Given the description of an element on the screen output the (x, y) to click on. 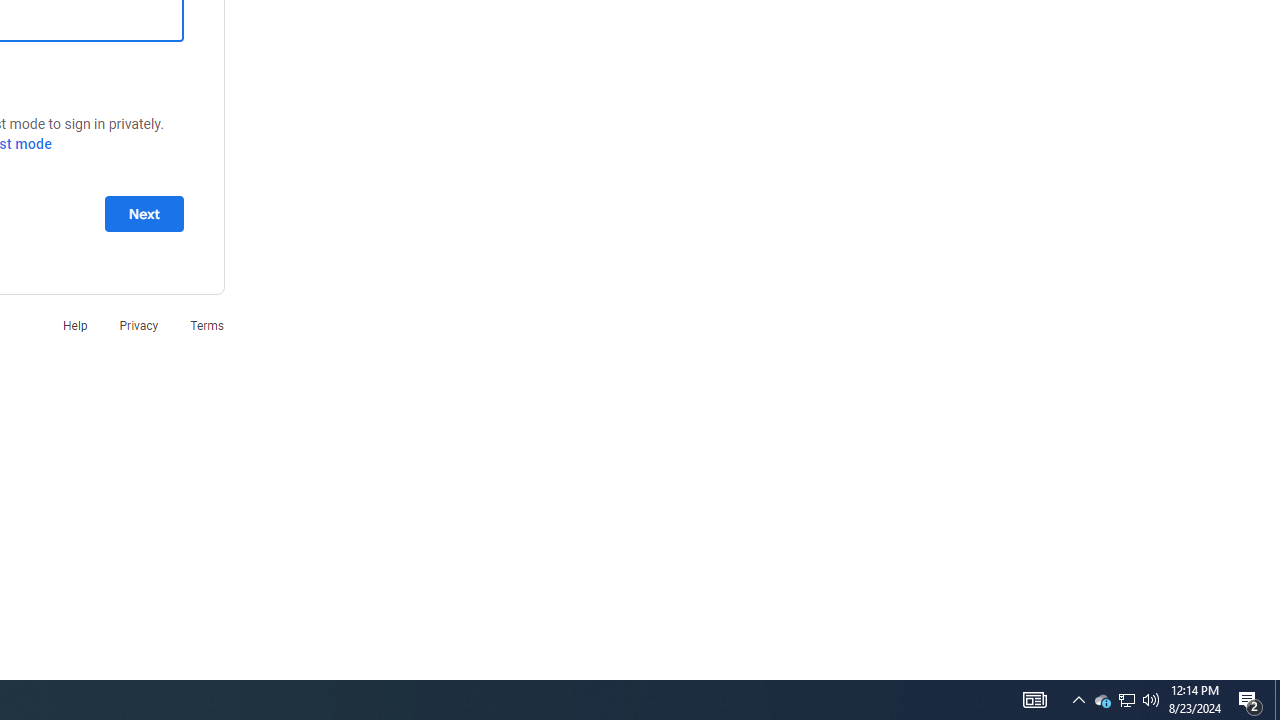
Next (143, 213)
